Given the description of an element on the screen output the (x, y) to click on. 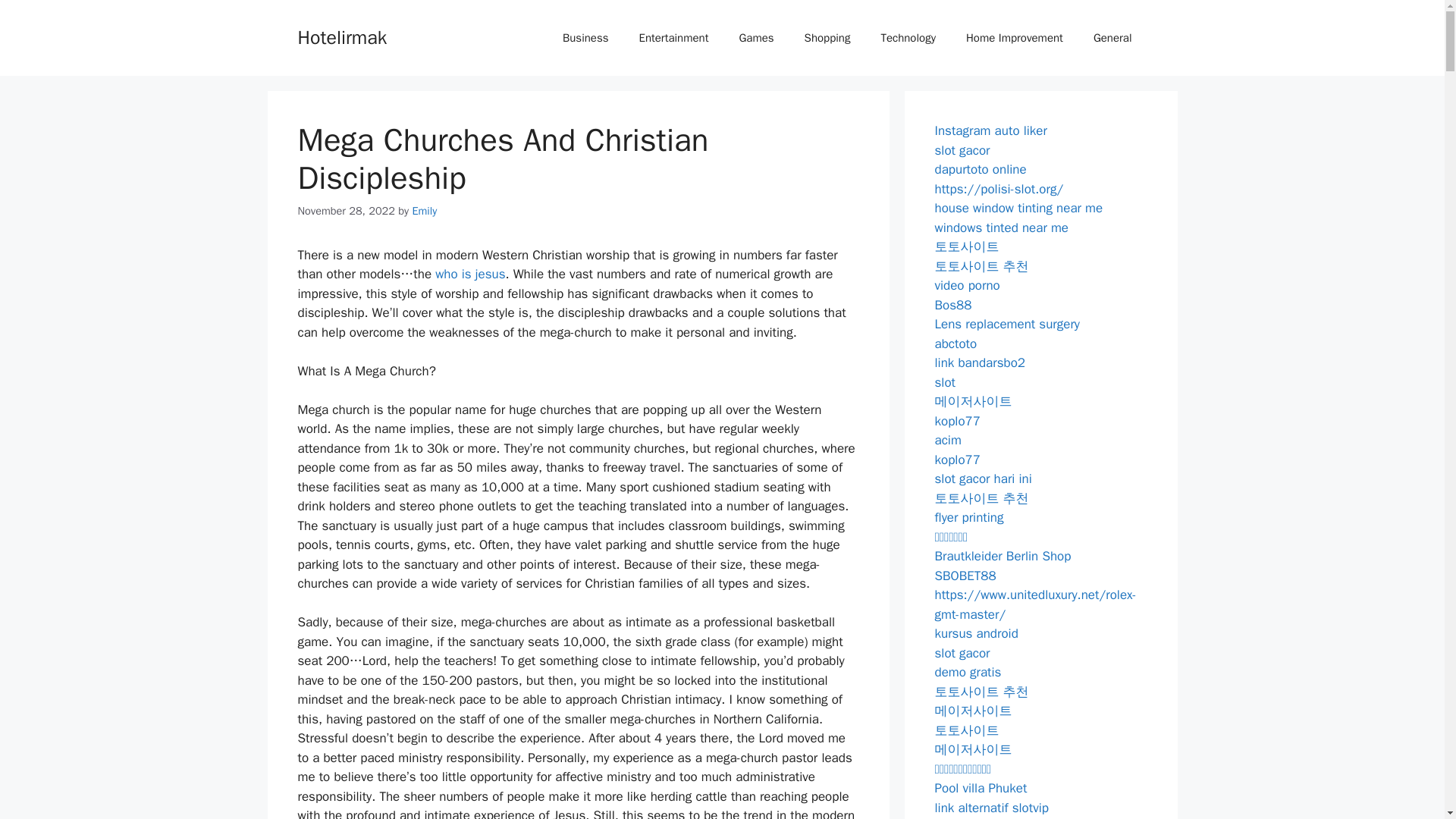
Instagram auto liker (990, 130)
windows tinted near me (1001, 227)
Bos88 (952, 304)
View all posts by Emily (424, 210)
Shopping (827, 37)
slot gacor (962, 150)
koplo77 (956, 459)
dapurtoto online (980, 169)
slot gacor hari ini (982, 478)
General (1112, 37)
